Given the description of an element on the screen output the (x, y) to click on. 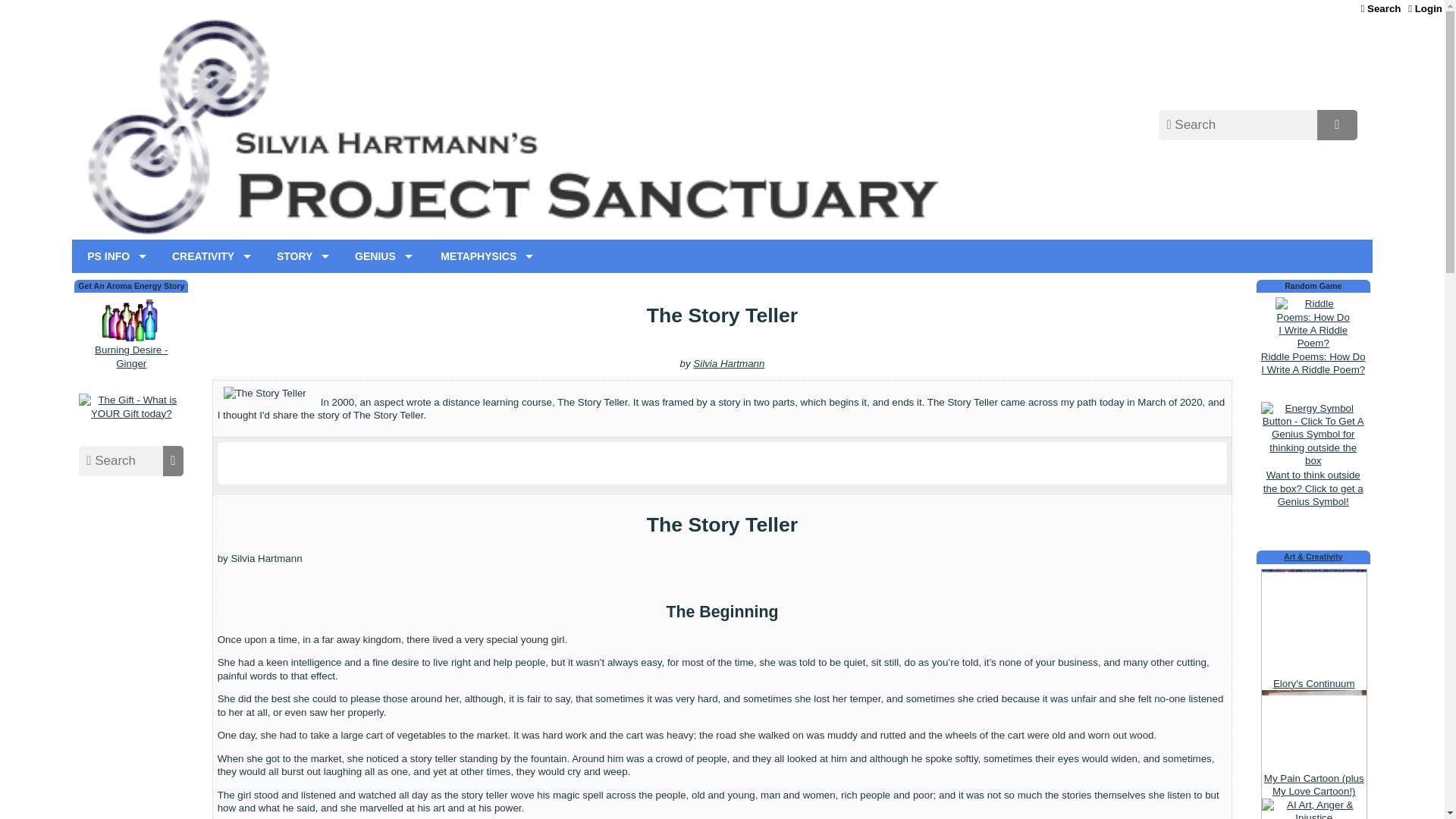
The Gift - What is YOUR The Gift For Today? (130, 406)
CREATIVITY (208, 255)
Search this website (1380, 8)
Riddle Poems: How Do I Write A Riddle Poem? (1313, 323)
STORY (299, 255)
The Story Teller (269, 392)
PS INFO (112, 255)
GENIUS (379, 255)
Click to get a The Gift from SFX (130, 413)
Elory's Continuum (1314, 620)
Energy Symbols Button (1312, 434)
Click for the Project Sanctuary Genius Symbol of the Day (1312, 480)
